Given the description of an element on the screen output the (x, y) to click on. 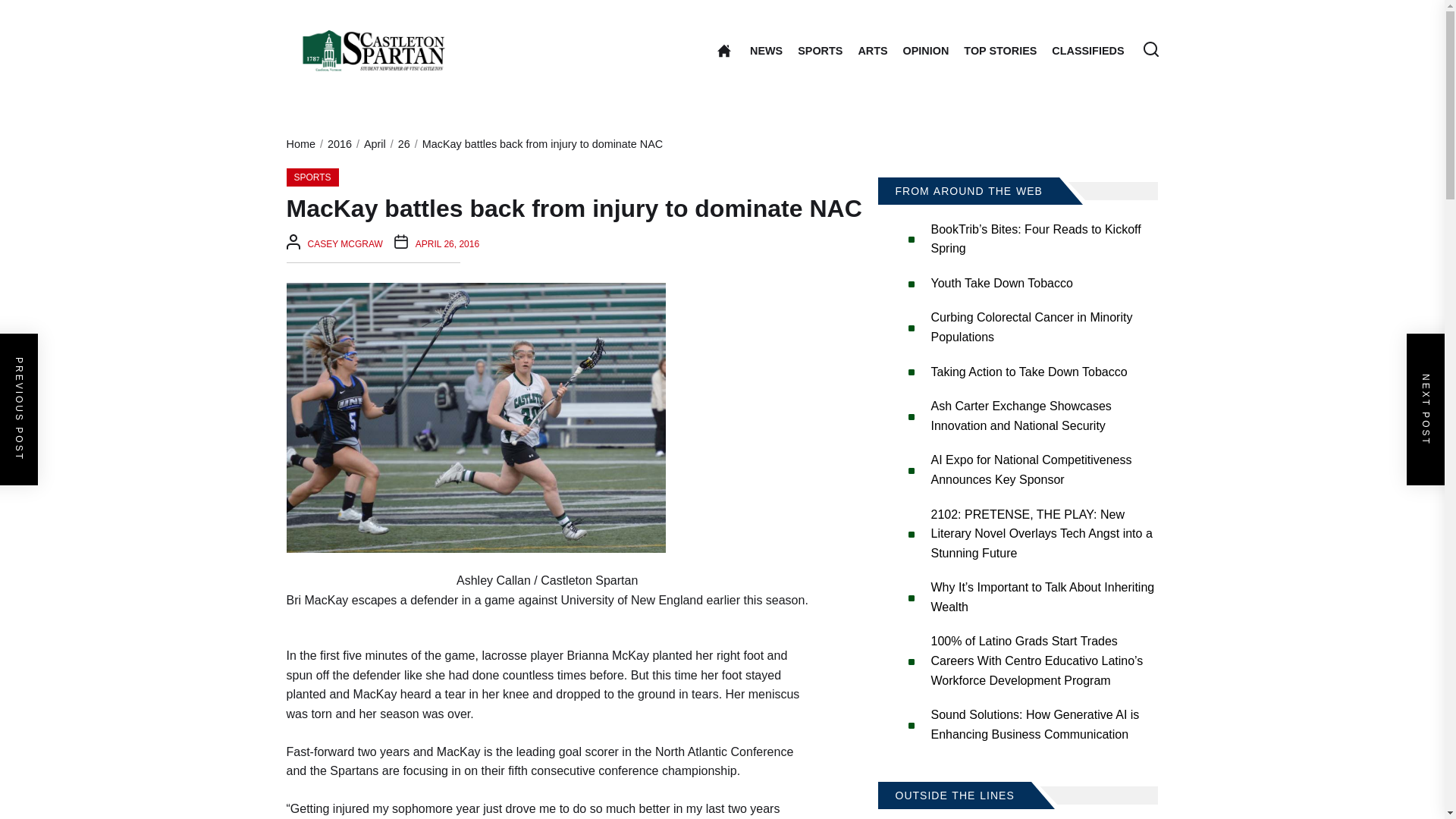
NEWS (766, 50)
OPINION (925, 50)
SPORTS (820, 50)
ARTS (871, 50)
CLASSIFIEDS (1087, 50)
Home (723, 50)
TOP STORIES (999, 50)
